Given the description of an element on the screen output the (x, y) to click on. 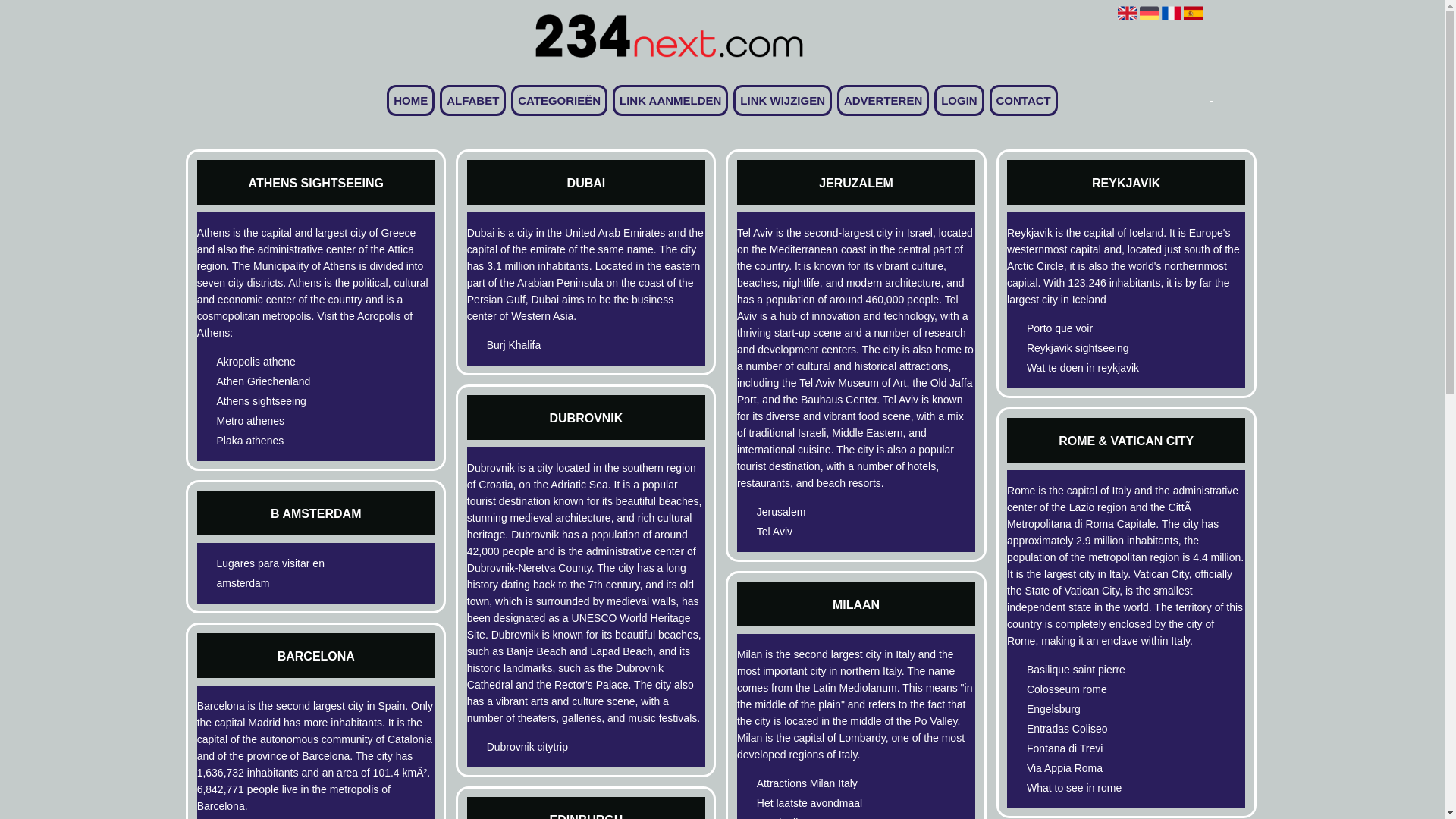
ADVERTEREN Element type: text (882, 100)
What to see in rome Element type: text (1100, 787)
Engelsburg Element type: text (1100, 708)
Jerusalem Element type: text (830, 511)
Plaka athenes Element type: text (289, 440)
Reykjavik sightseeing Element type: text (1100, 347)
ALFABET Element type: text (472, 100)
Metro athenes Element type: text (289, 420)
Tel Aviv Element type: text (830, 531)
Akropolis athene Element type: text (289, 361)
Colosseum rome Element type: text (1100, 689)
Basilique saint pierre Element type: text (1100, 669)
HOME Element type: text (410, 100)
LINK WIJZIGEN Element type: text (782, 100)
Entradas Coliseo Element type: text (1100, 728)
Athens sightseeing Element type: text (289, 401)
CONTACT Element type: text (1023, 100)
Porto que voir Element type: text (1100, 328)
Het laatste avondmaal Element type: text (830, 802)
Via Appia Roma Element type: text (1100, 768)
LINK AANMELDEN Element type: text (670, 100)
Burj Khalifa Element type: text (559, 344)
Dubrovnik citytrip Element type: text (559, 746)
LOGIN Element type: text (959, 100)
Lugares para visitar en amsterdam Element type: text (289, 573)
Athen Griechenland Element type: text (289, 381)
Wat te doen in reykjavik Element type: text (1100, 367)
Fontana di Trevi Element type: text (1100, 748)
Attractions Milan Italy Element type: text (830, 783)
